Given the description of an element on the screen output the (x, y) to click on. 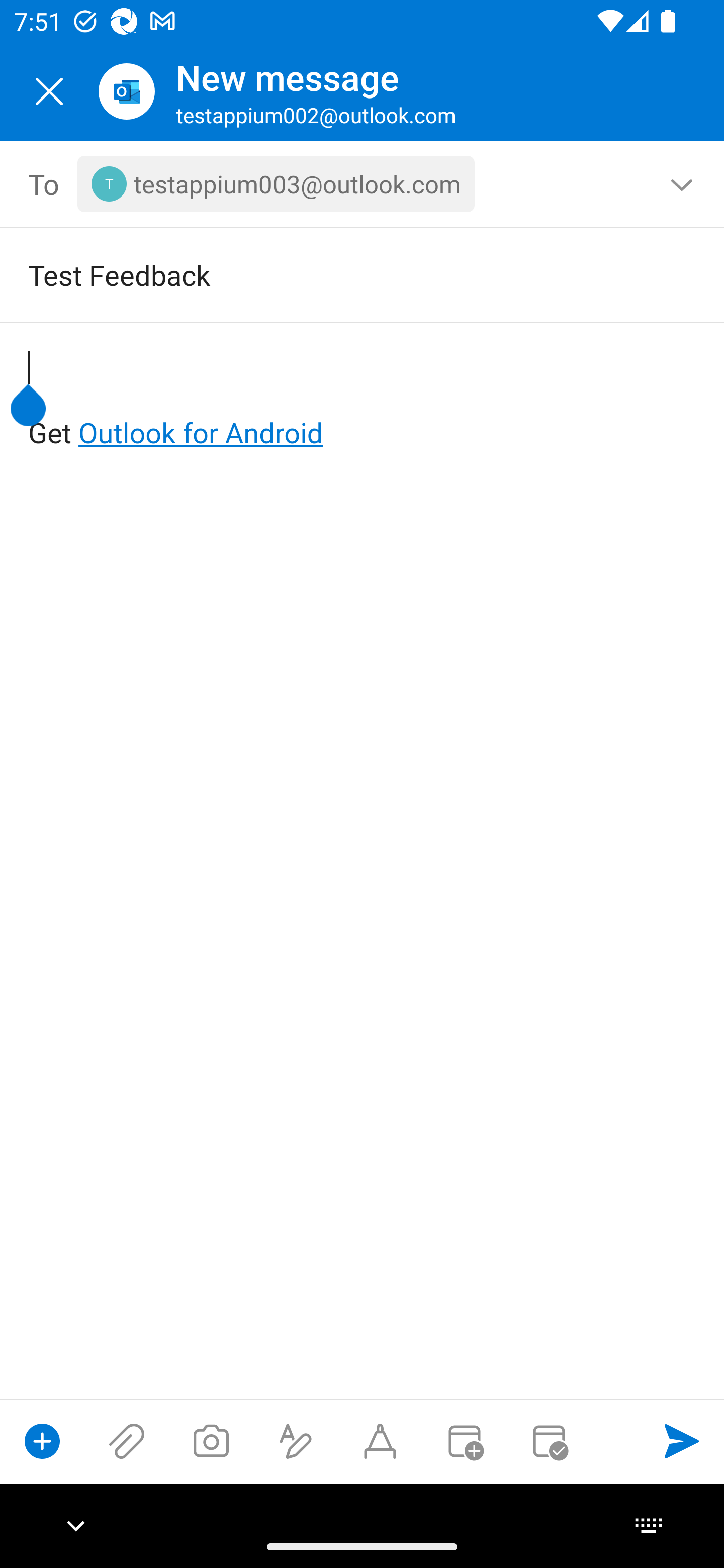
Close (49, 91)
To, 1 recipient <testappium003@outlook.com> (362, 184)
Test Feedback (333, 274)


Get Outlook for Android (363, 400)
Show compose options (42, 1440)
Attach files (126, 1440)
Take a photo (210, 1440)
Show formatting options (295, 1440)
Start Ink compose (380, 1440)
Convert to event (464, 1440)
Send availability (548, 1440)
Send (681, 1440)
